Given the description of an element on the screen output the (x, y) to click on. 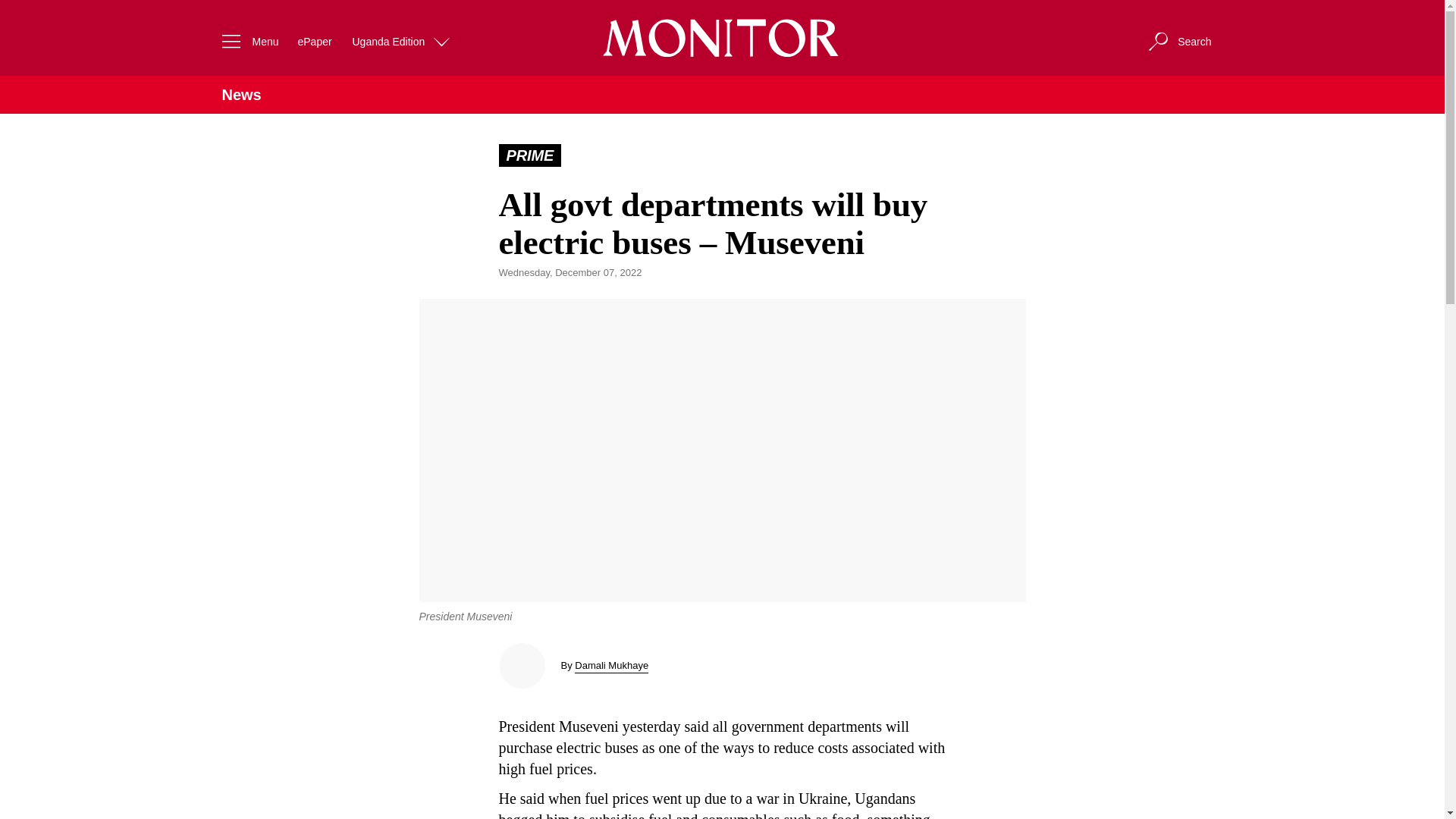
Menu (246, 41)
Search (1178, 41)
News (240, 94)
ePaper (314, 41)
Uganda Edition (401, 41)
